Given the description of an element on the screen output the (x, y) to click on. 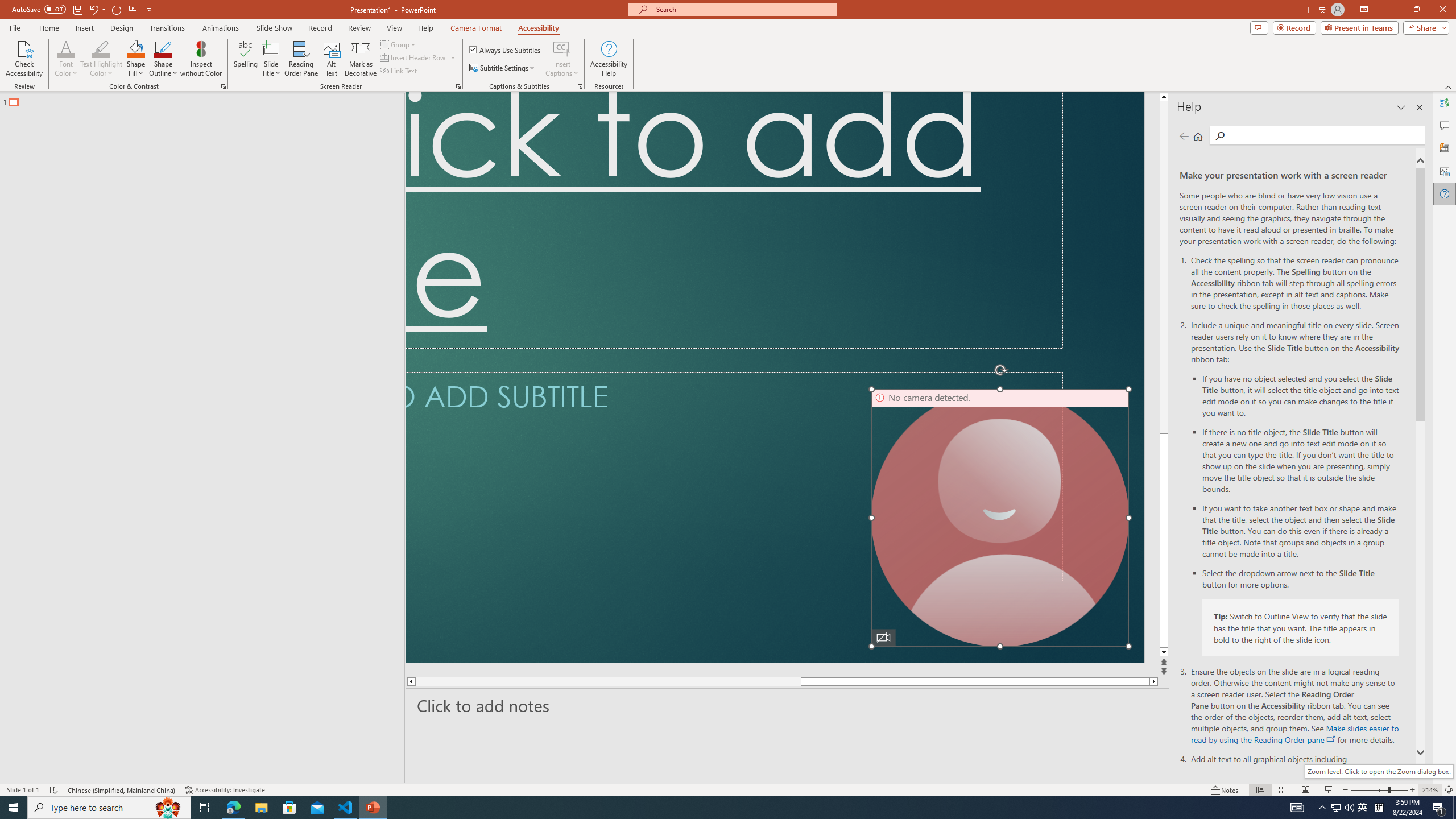
Shape Outline Blue, Accent 1 (163, 48)
Subtitle Settings (502, 67)
Always Use Subtitles (505, 49)
Slide Title (271, 48)
Slide Notes (787, 705)
